Given the description of an element on the screen output the (x, y) to click on. 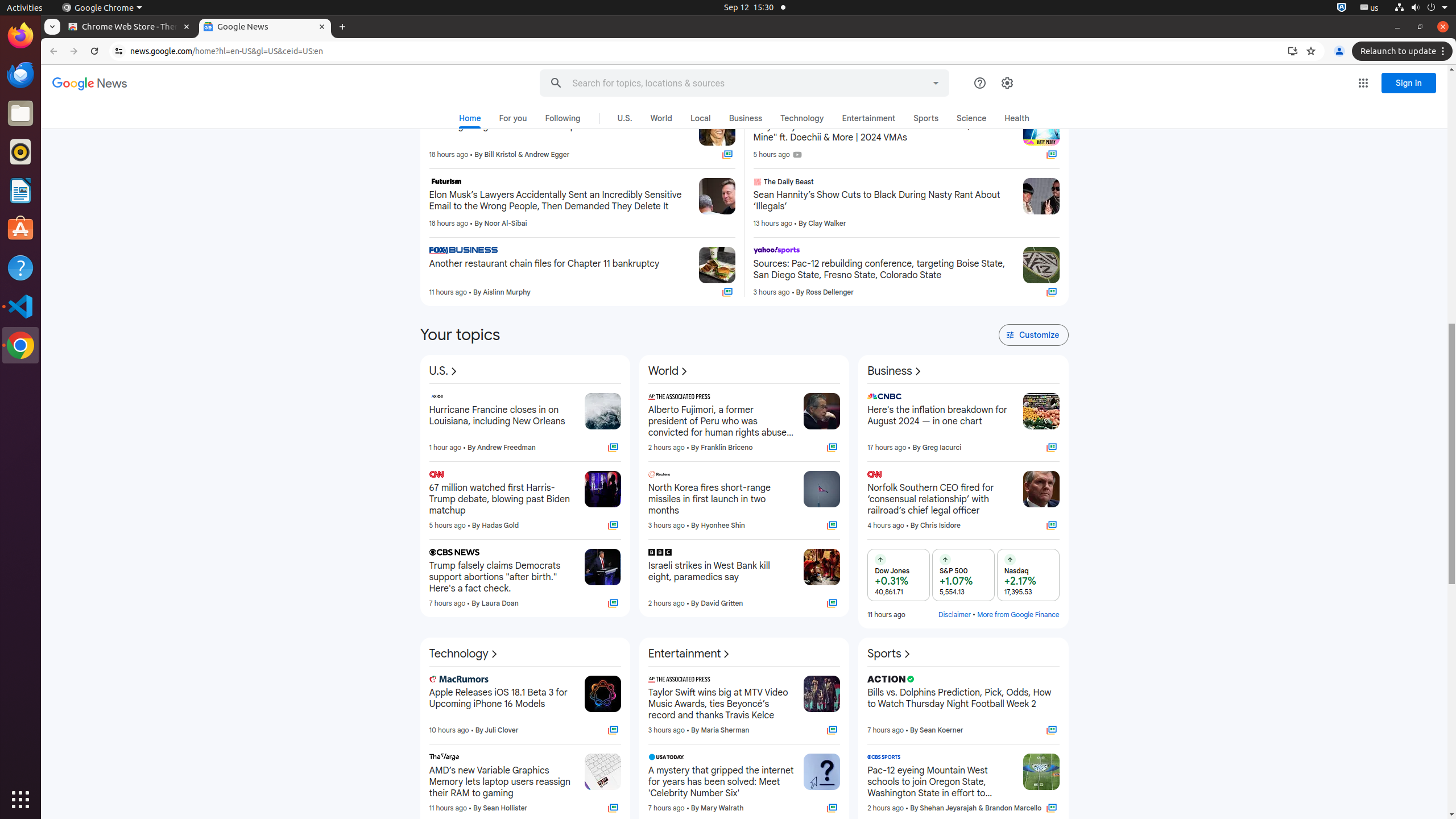
Files Element type: push-button (20, 113)
U.S. Element type: menu-item (624, 118)
Health Element type: menu-item (1016, 118)
Hurricane Francine closes in on Louisiana, including New Orleans Element type: link (501, 421)
AMD’s new Variable Graphics Memory lets laptop users reassign their RAM to gaming Element type: link (501, 781)
